Given the description of an element on the screen output the (x, y) to click on. 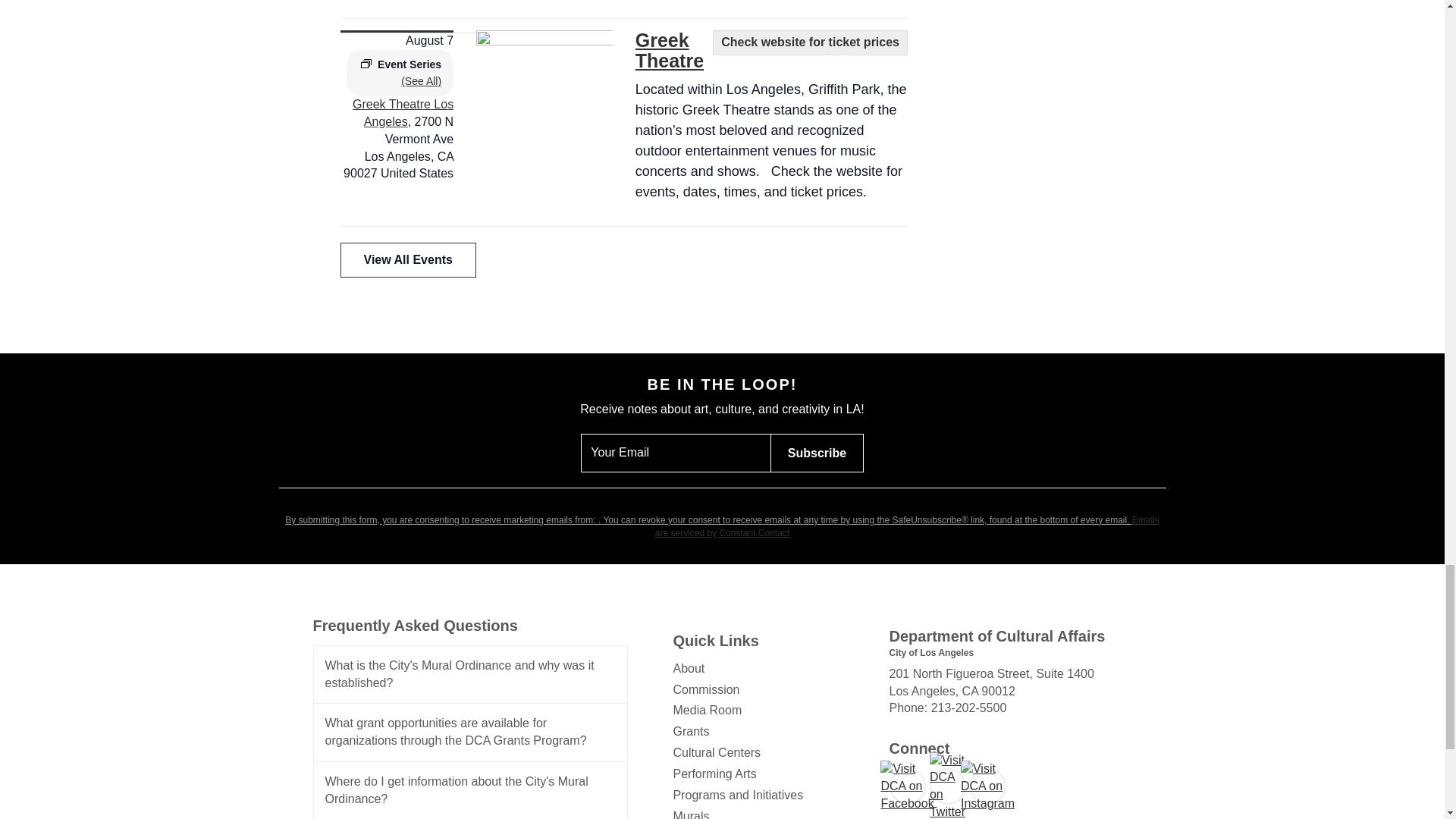
Event Series (366, 62)
Subscribe (816, 453)
